Given the description of an element on the screen output the (x, y) to click on. 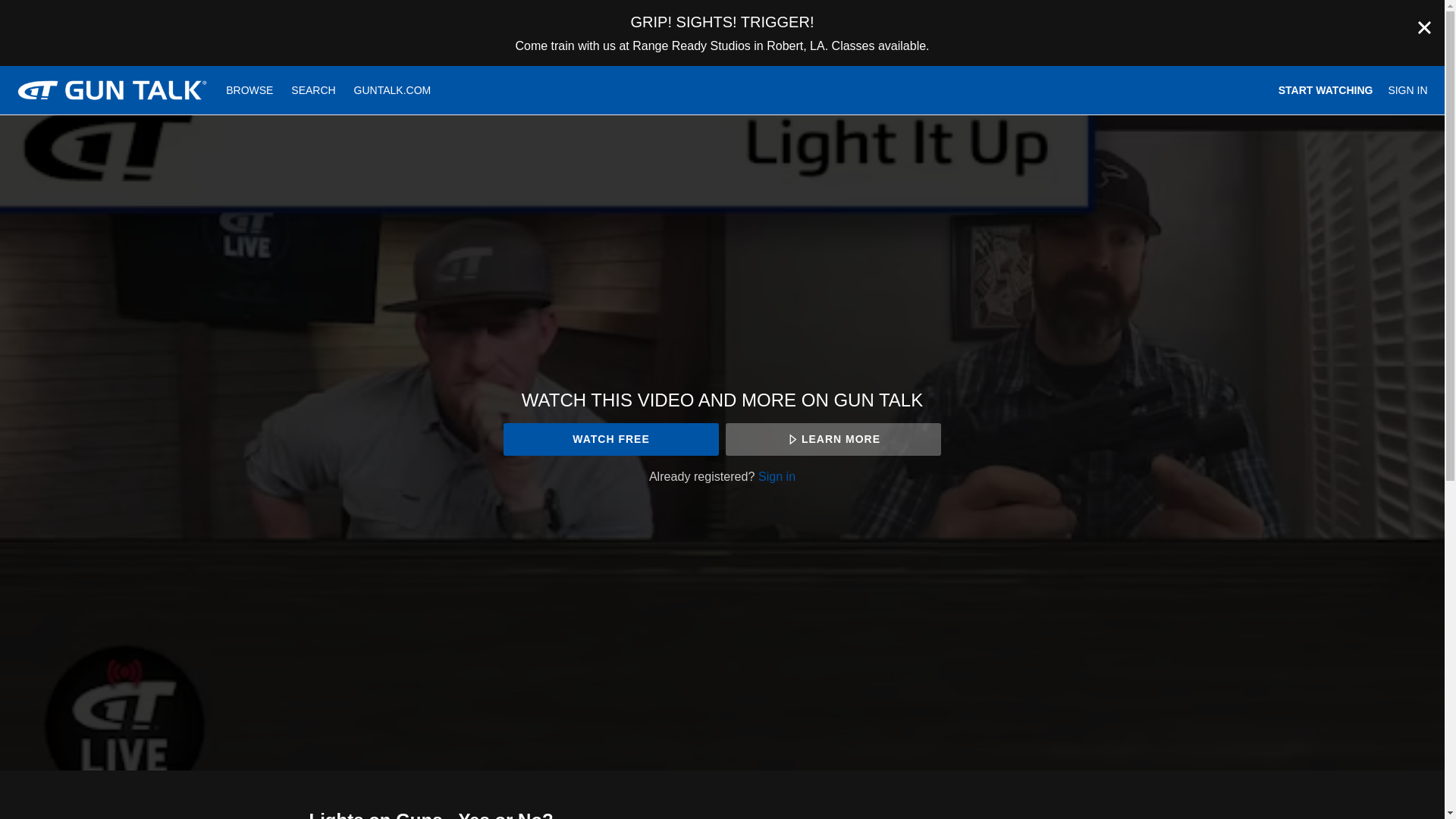
LEARN MORE (832, 439)
Skip to main content (48, 7)
WATCH FREE (610, 439)
BROWSE (250, 90)
GUNTALK.COM (392, 90)
SIGN IN (1406, 90)
START WATCHING (1325, 90)
SEARCH (314, 90)
Sign in (776, 476)
